Given the description of an element on the screen output the (x, y) to click on. 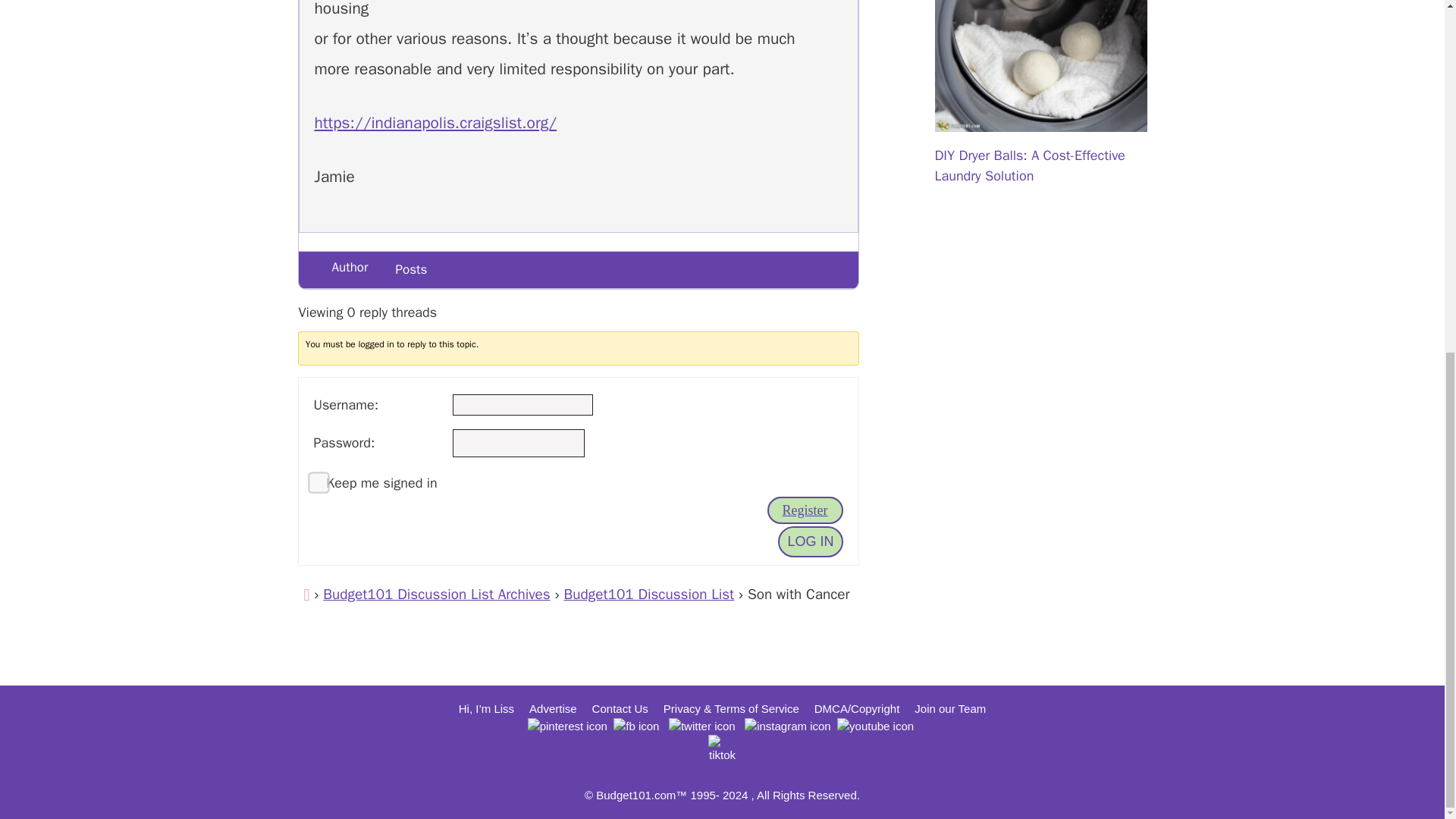
youtube icon (875, 726)
twitter icon (701, 726)
DIY Dryer Balls: A Cost-Effective Laundry Solution (1040, 121)
fb icon (635, 726)
instagram icon (787, 726)
tiktok (721, 748)
pinterest icon (567, 726)
forever (312, 476)
